Given the description of an element on the screen output the (x, y) to click on. 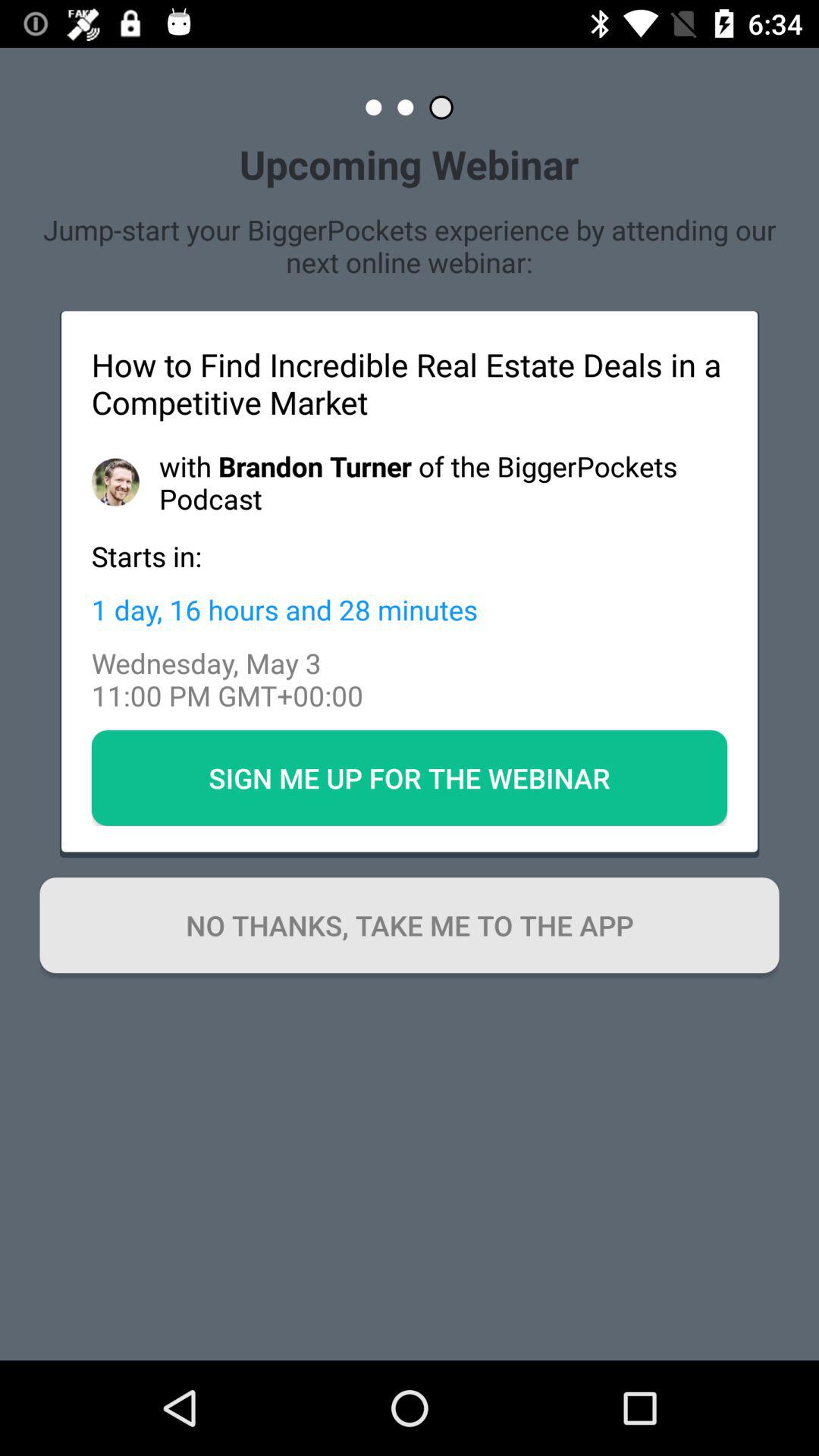
turn off button below sign me up button (409, 925)
